Given the description of an element on the screen output the (x, y) to click on. 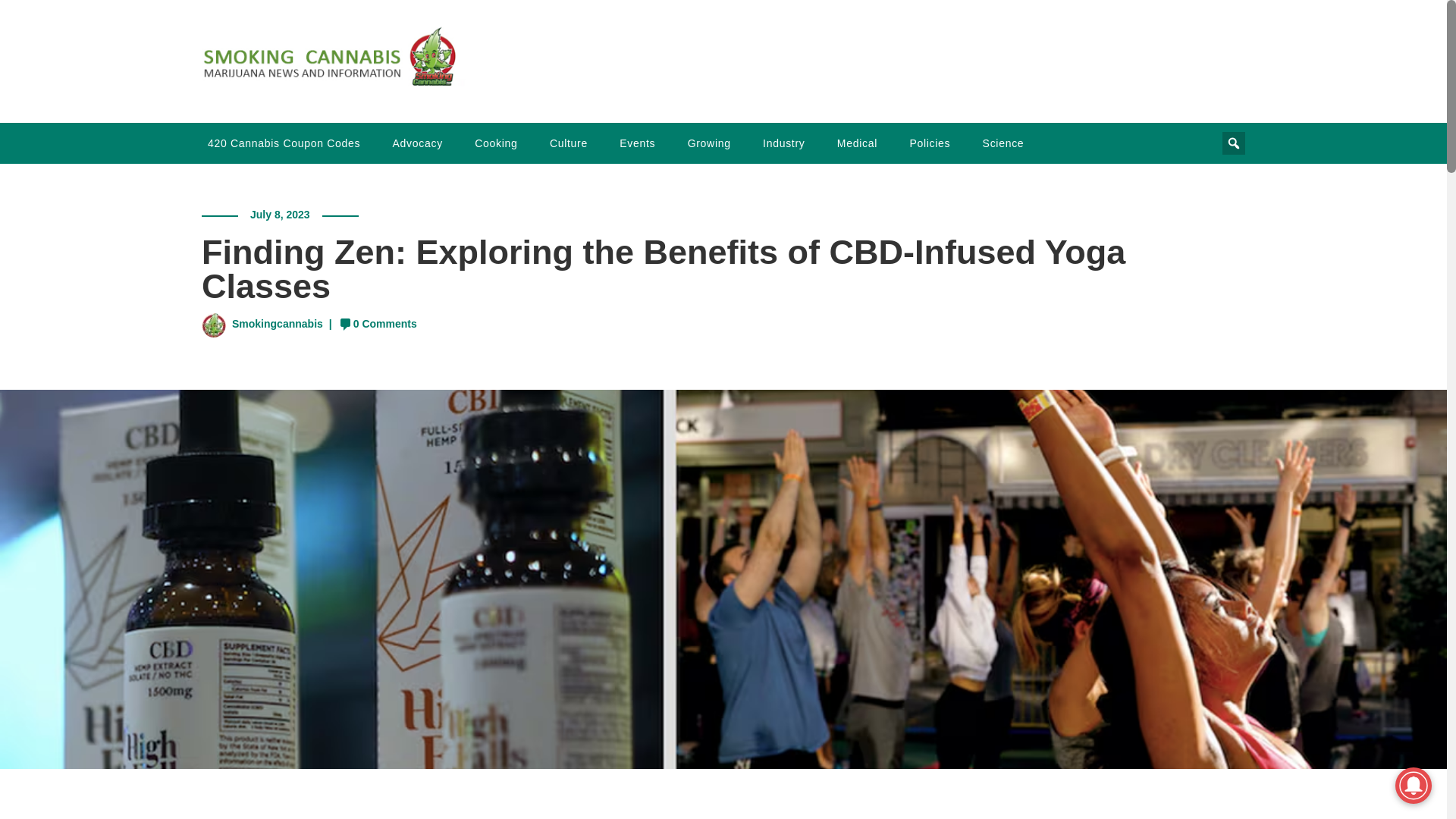
Medical (857, 142)
Industry (783, 142)
Smokingcannabis (277, 324)
420 Cannabis Coupon Codes (284, 142)
Cooking (495, 142)
Growing (708, 142)
Policies (929, 142)
Advocacy (416, 142)
Events (637, 142)
Science (1002, 142)
Culture (568, 142)
